Given the description of an element on the screen output the (x, y) to click on. 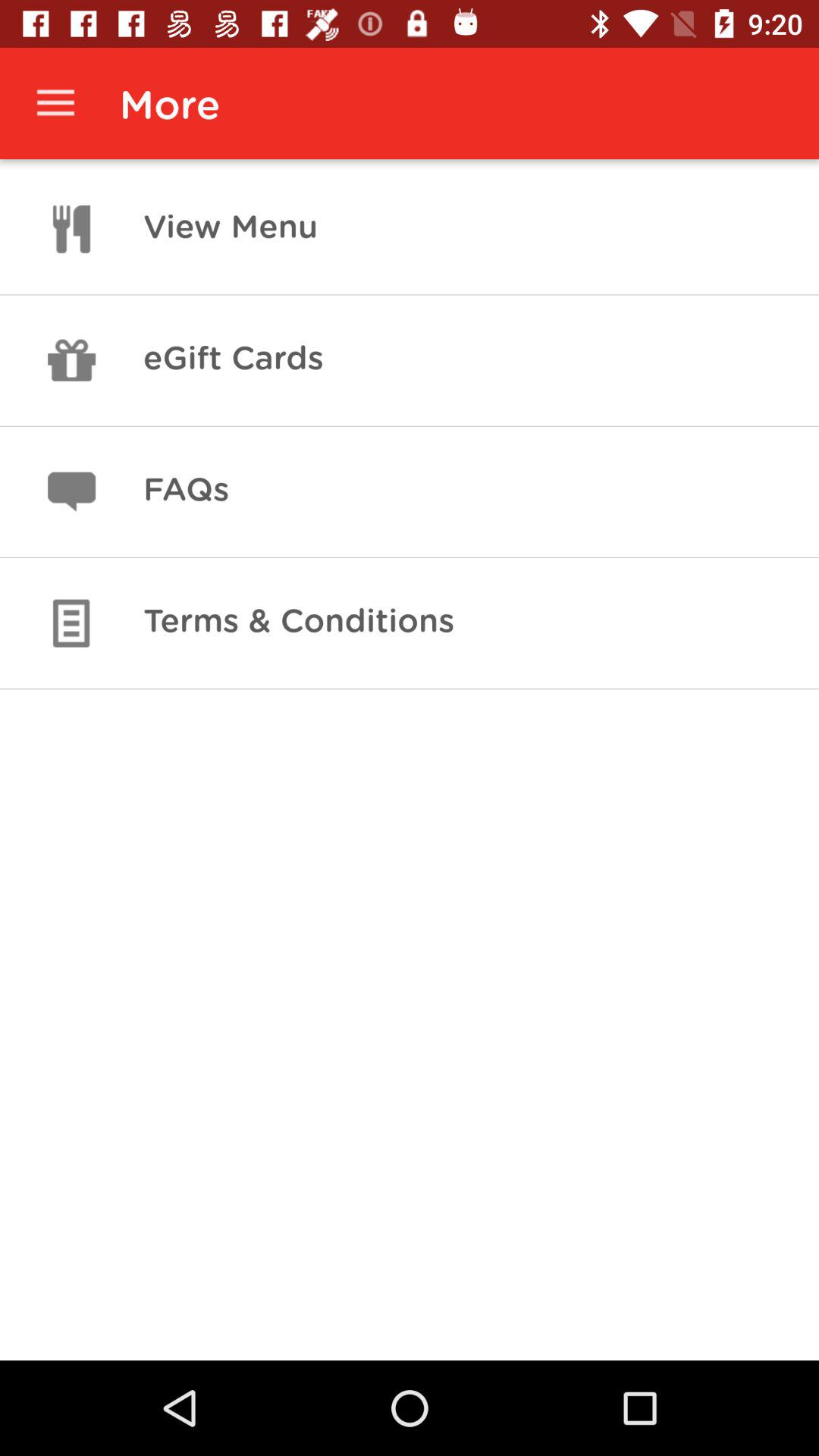
tap the view menu item (230, 228)
